Given the description of an element on the screen output the (x, y) to click on. 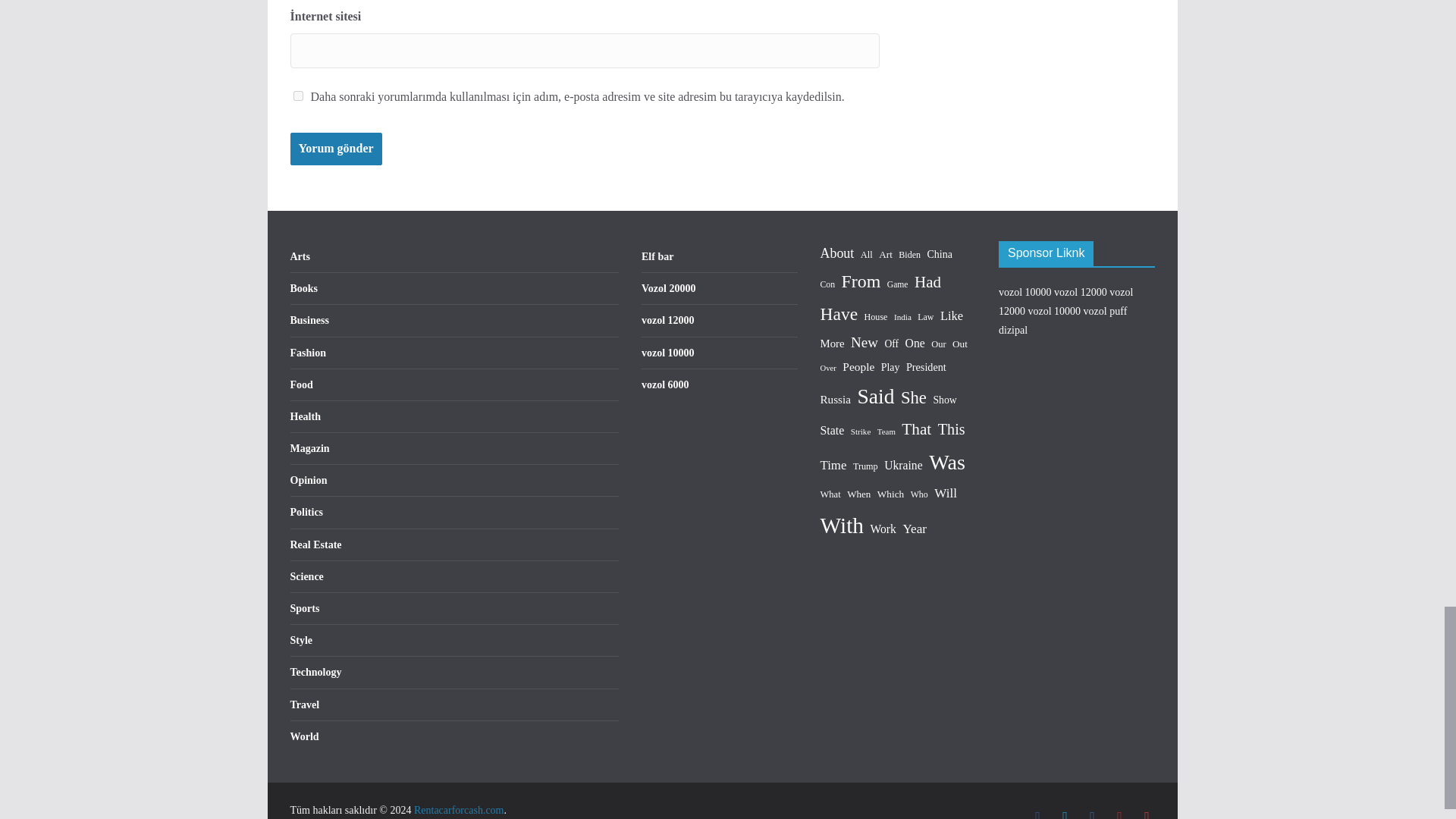
yes (297, 95)
